Given the description of an element on the screen output the (x, y) to click on. 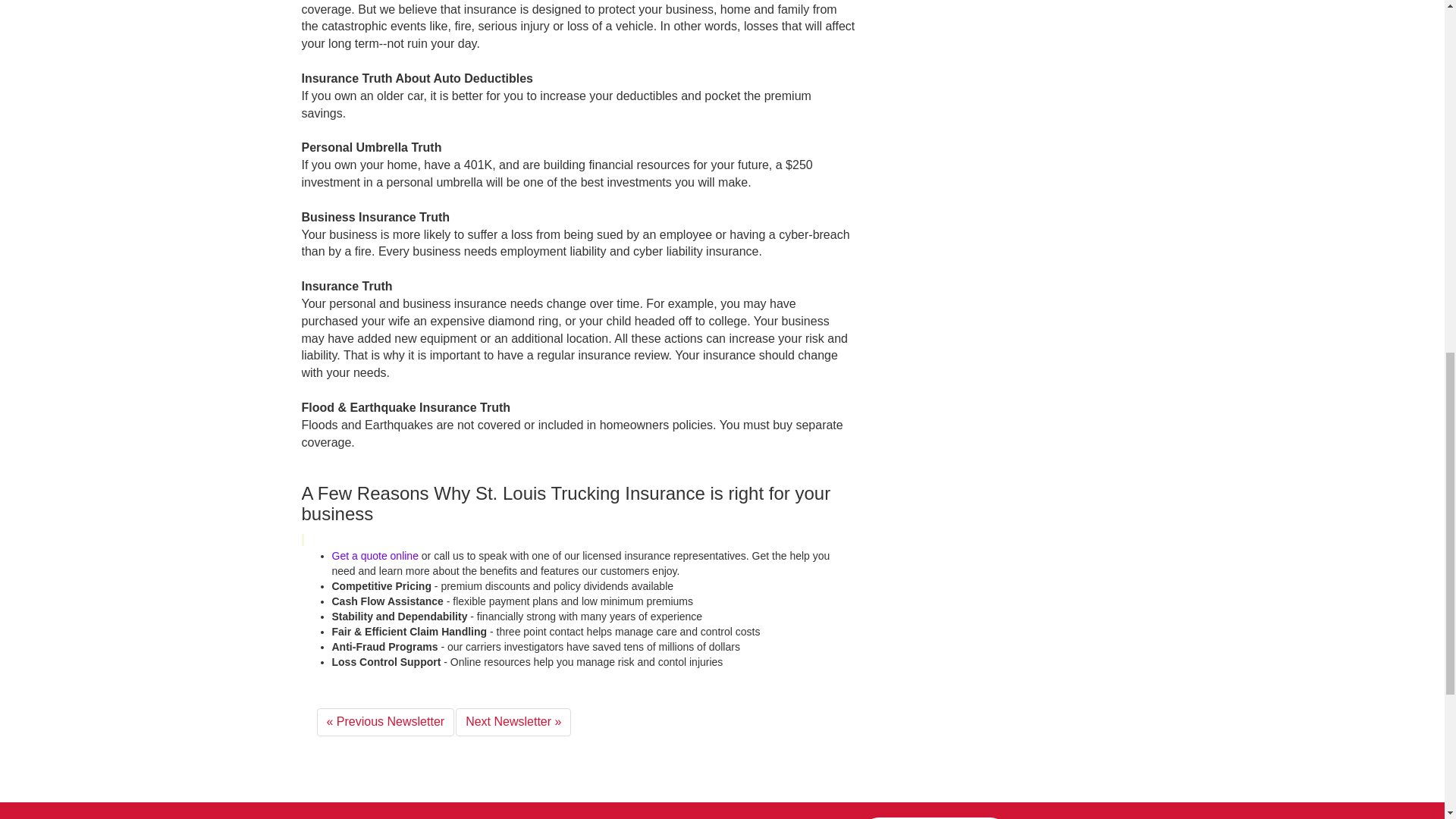
Get a quote online (375, 555)
